Given the description of an element on the screen output the (x, y) to click on. 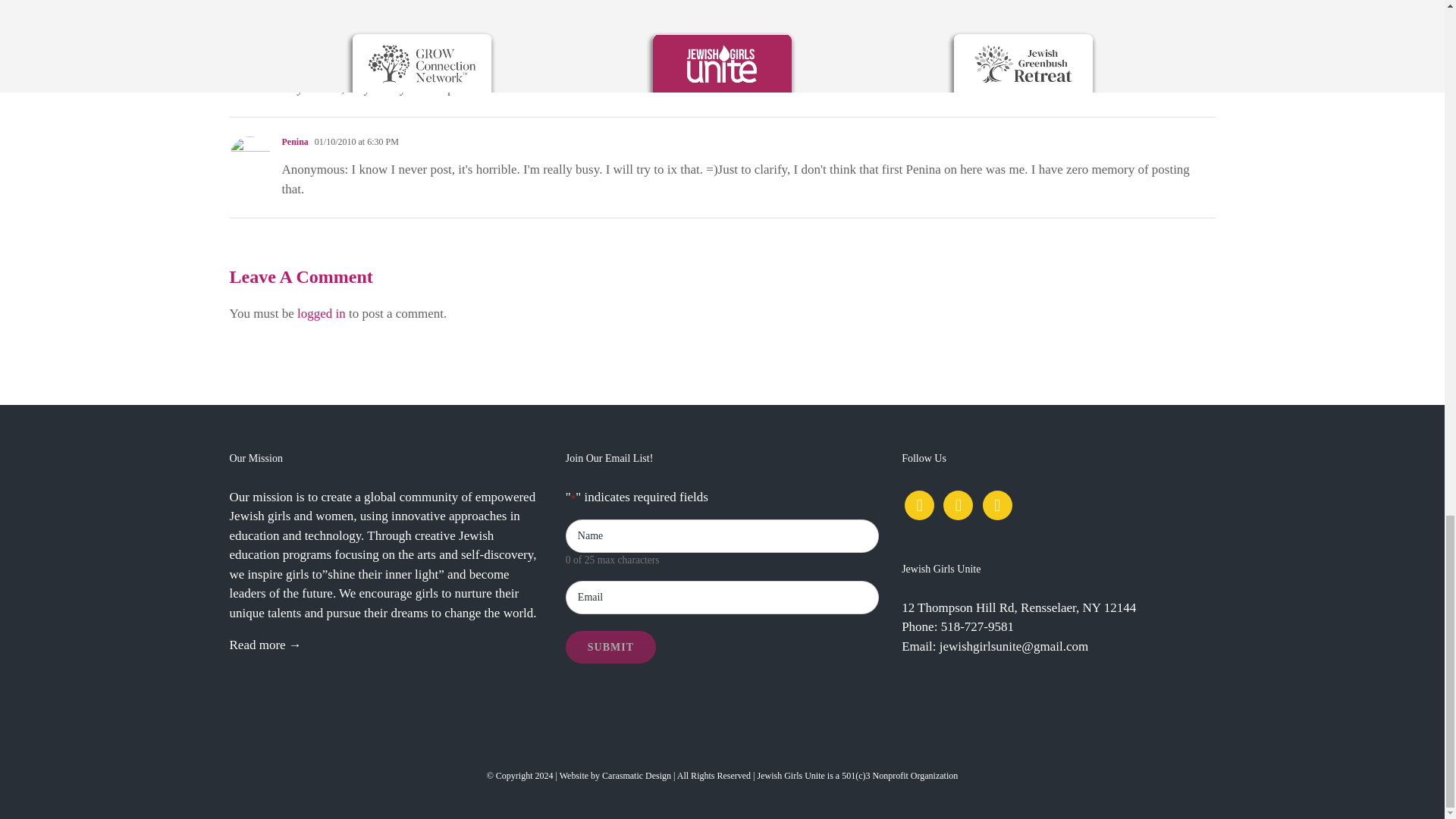
Submit (611, 646)
